Given the description of an element on the screen output the (x, y) to click on. 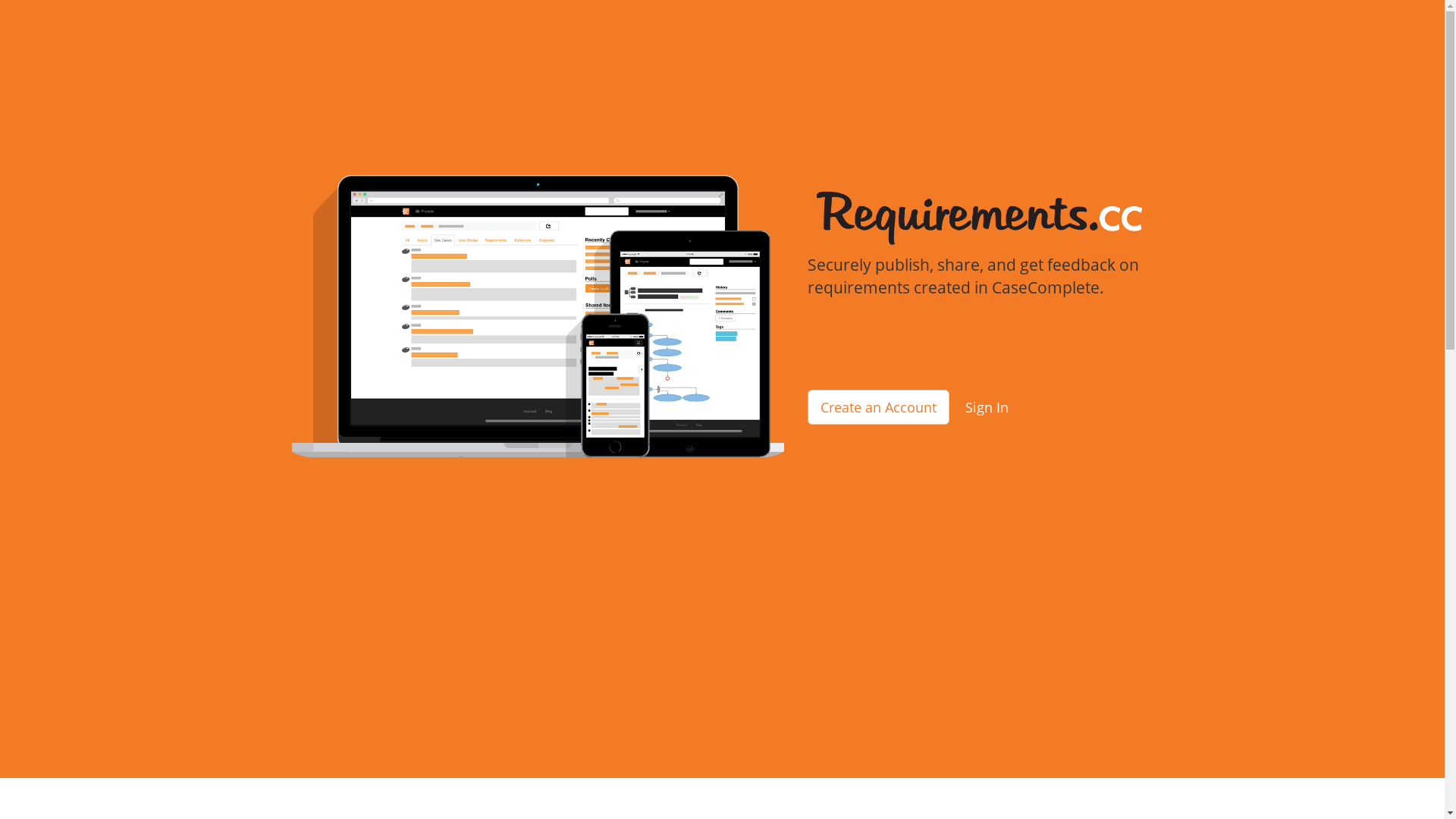
Sign In Element type: text (986, 406)
Create an Account Element type: text (878, 406)
